Given the description of an element on the screen output the (x, y) to click on. 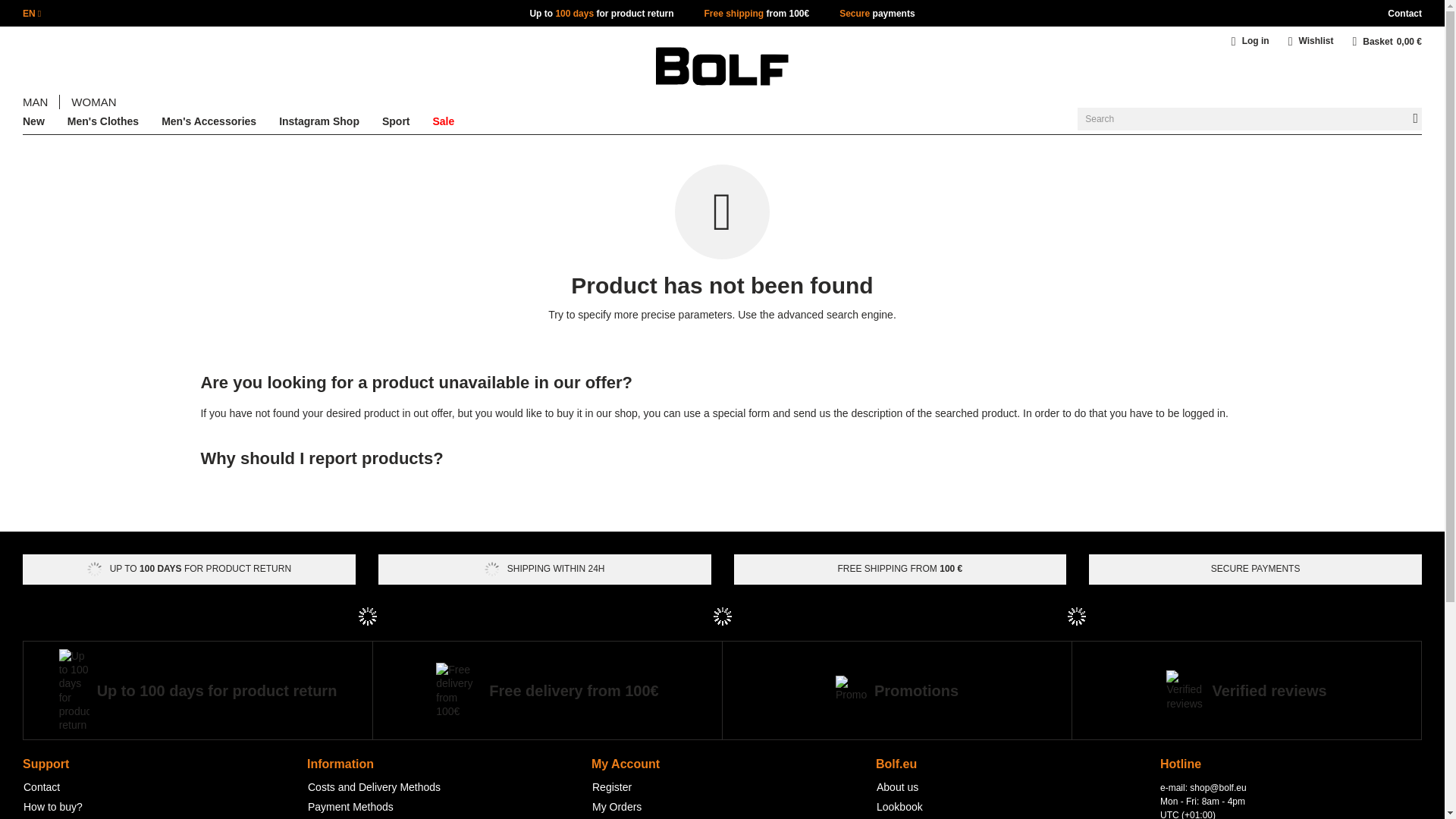
Contact (1404, 13)
New (34, 123)
Click here to go to the basket (1387, 41)
Wishlist (1313, 44)
Log in (1256, 44)
Log in (1256, 44)
Men's Clothes (102, 123)
Men's Clothes (102, 123)
Contact (1404, 13)
Up to 100 days for product return (600, 13)
